Given the description of an element on the screen output the (x, y) to click on. 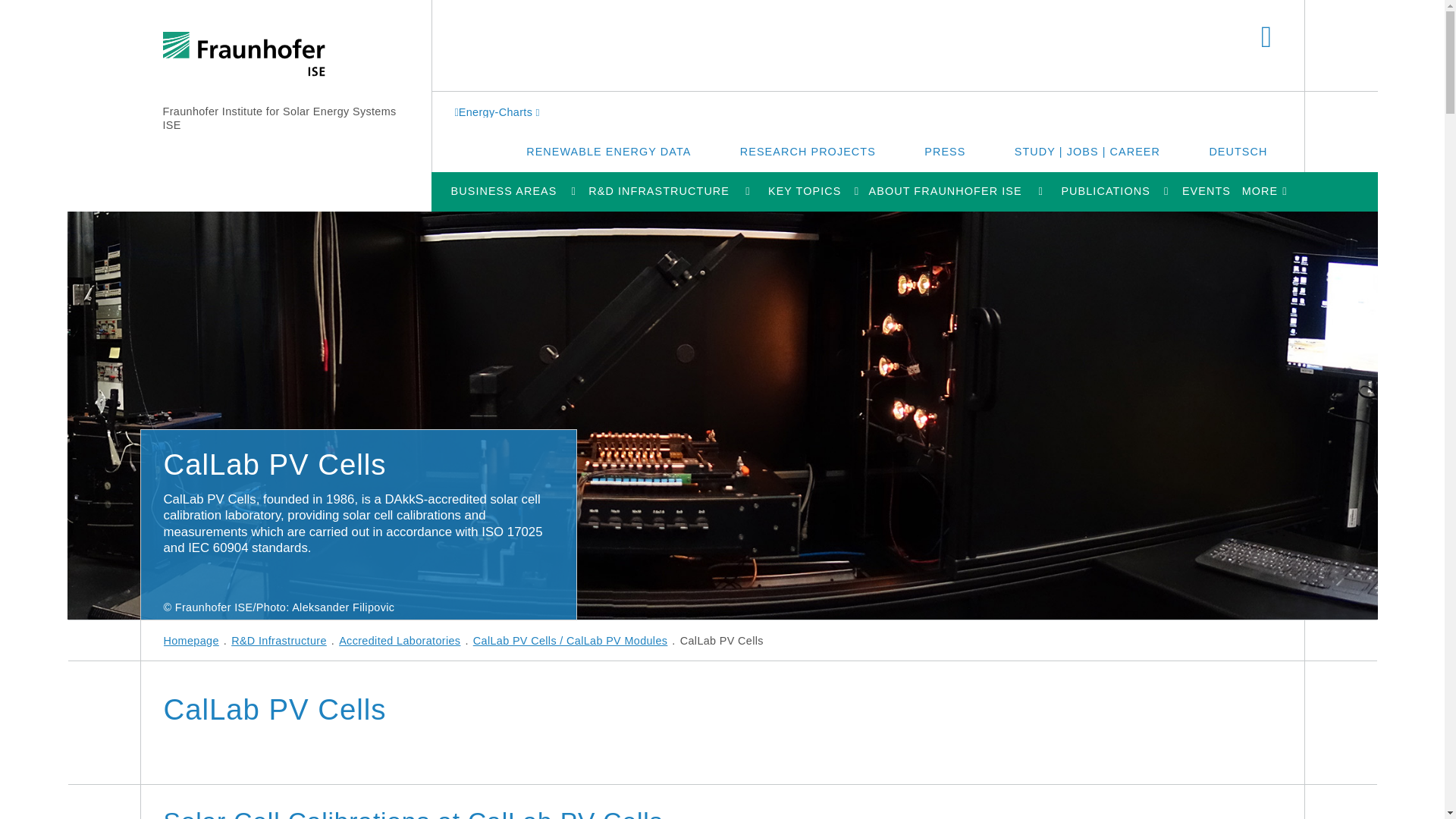
RENEWABLE ENERGY DATA (608, 151)
SEARCH (1266, 37)
DEUTSCH (1238, 151)
Energy-Charts (498, 111)
Fraunhofer Institute for Solar Energy Systems ISE (278, 118)
RESEARCH PROJECTS (807, 151)
Filter monochromator setup (33, 415)
PRESS (944, 151)
Fraunhofer ISE (242, 53)
BUSINESS AREAS (503, 191)
